Given the description of an element on the screen output the (x, y) to click on. 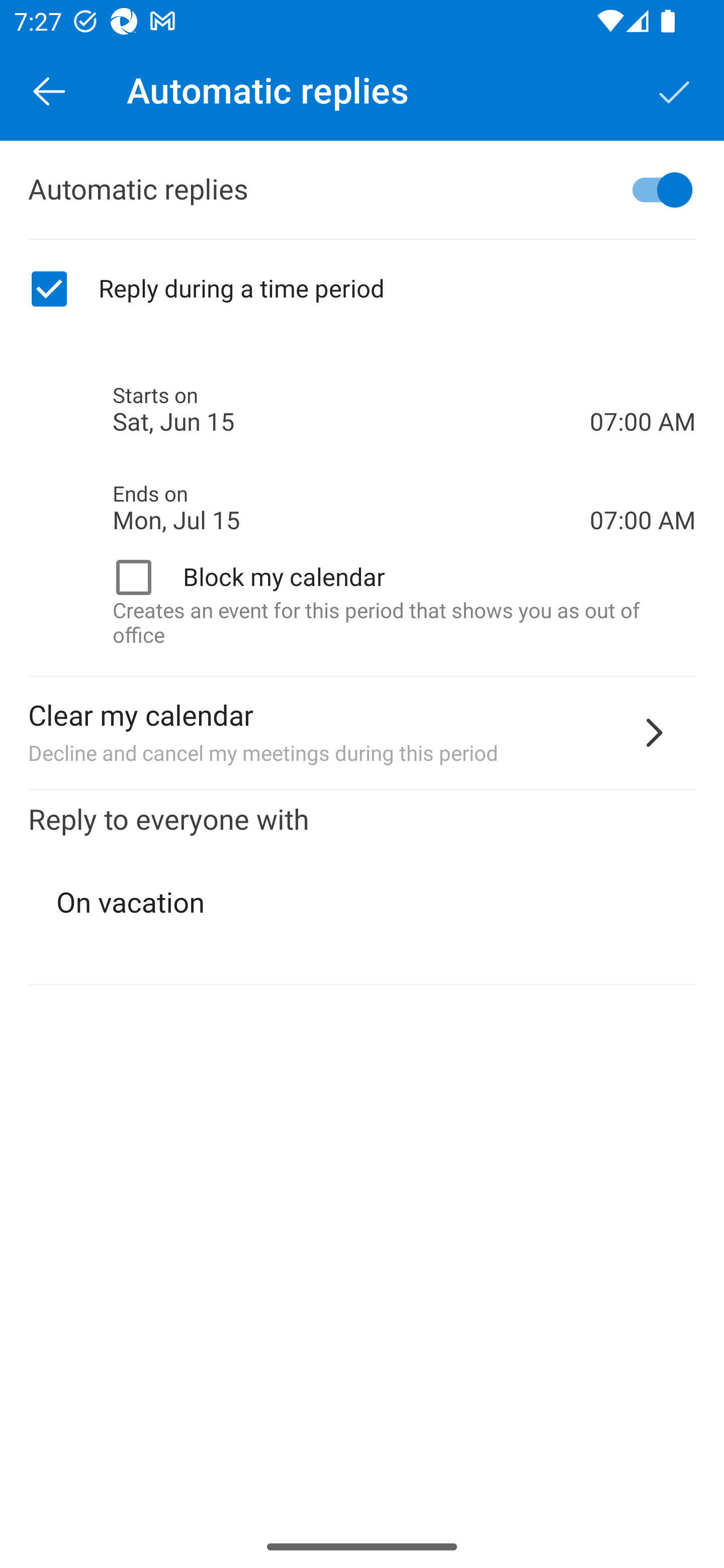
Back (49, 90)
Save (674, 90)
Automatic replies (362, 190)
Reply during a time period (362, 288)
07:00 AM (642, 387)
Starts on Sat, Jun 15 (351, 409)
07:00 AM (642, 485)
Ends on Mon, Jul 15 (351, 507)
Reply to everyone with Edit box On vacation (361, 887)
On vacation (363, 902)
